Given the description of an element on the screen output the (x, y) to click on. 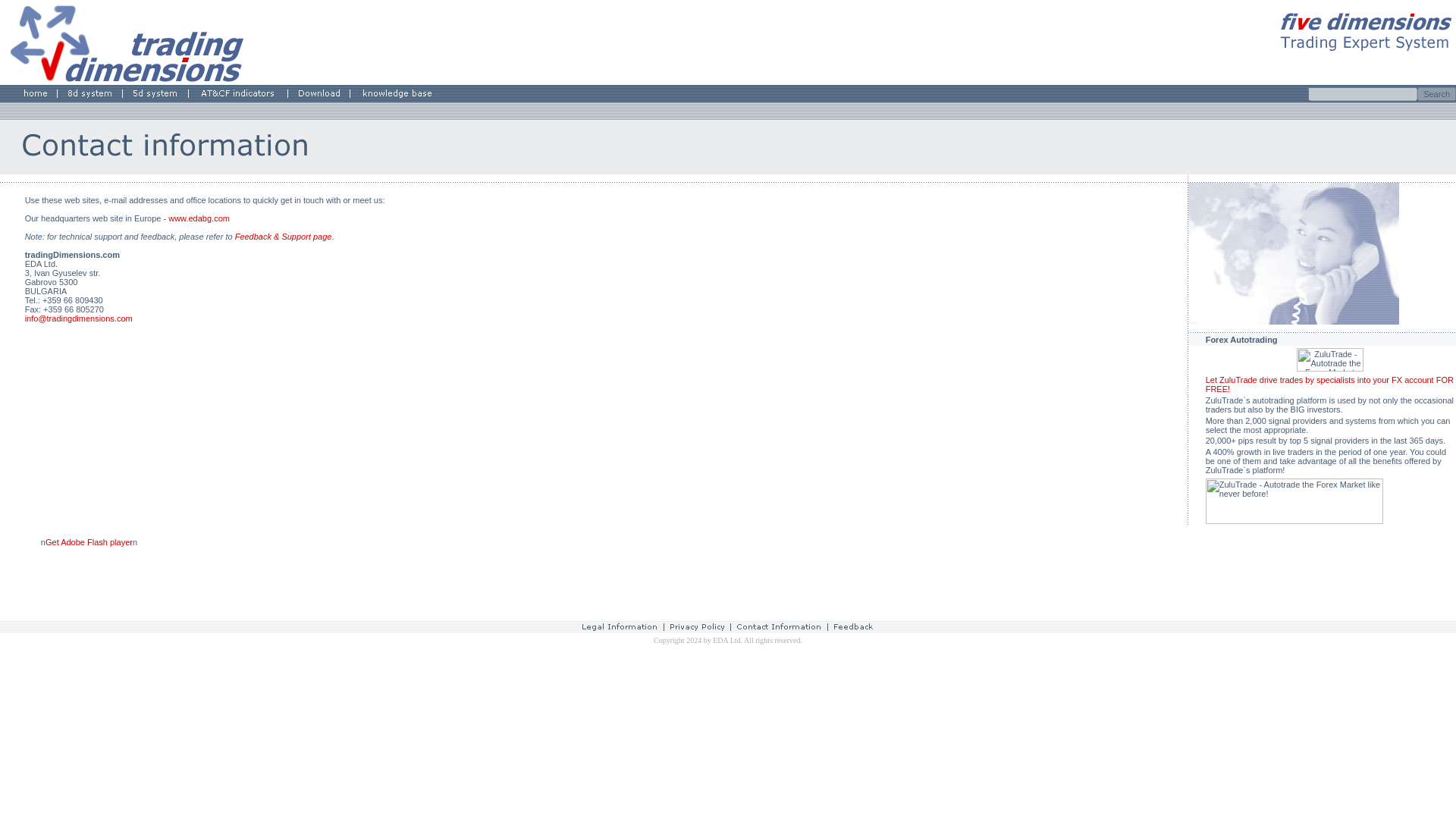
ZuluTrade - Autotrade the Forex Market like never before! (1294, 520)
Get Adobe Flash player (88, 542)
ZuluTrade - Autotrade the Forex Market like never before! (1329, 368)
www.edabg.com (199, 217)
